Given the description of an element on the screen output the (x, y) to click on. 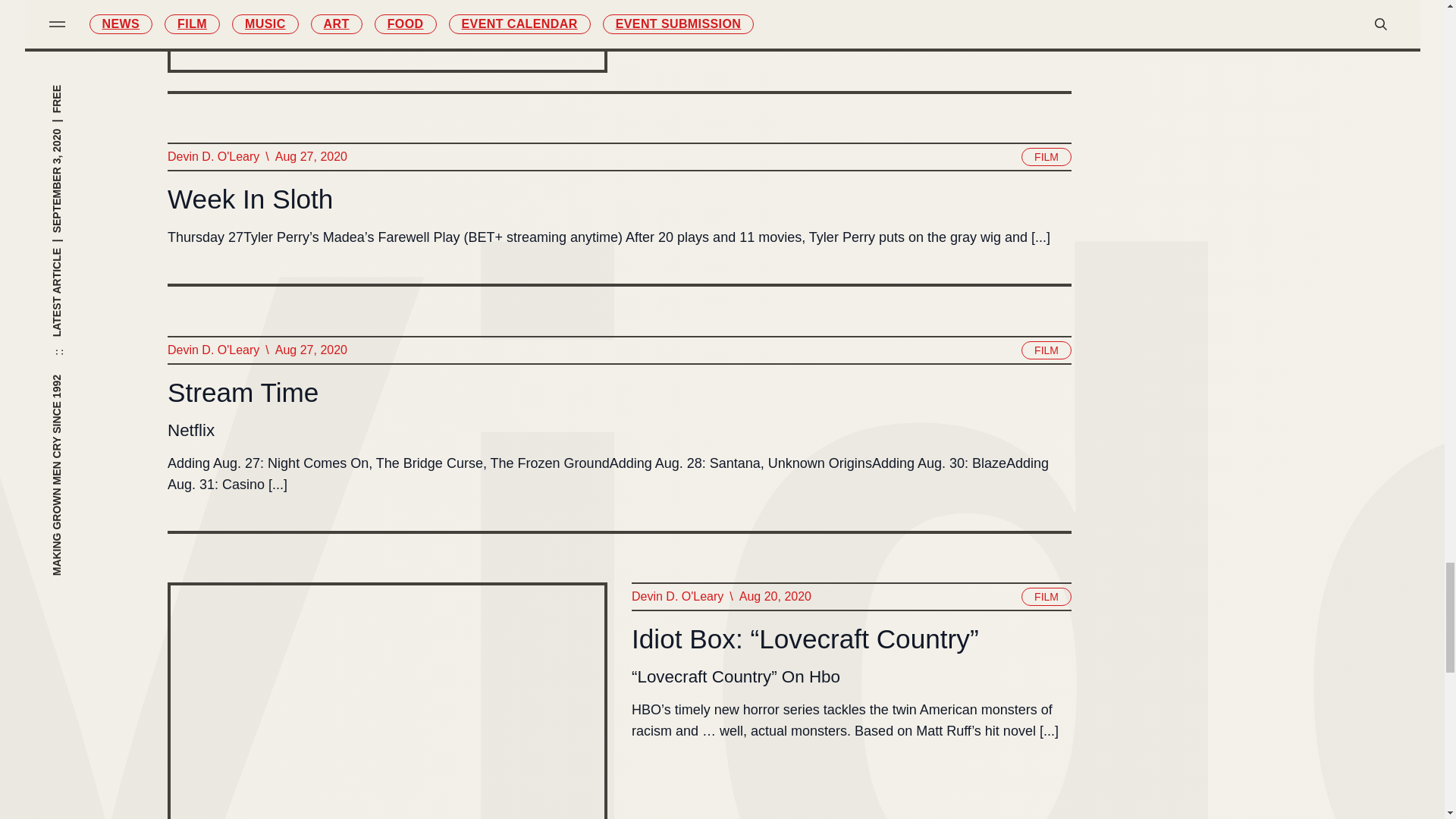
Devin D. O'Leary (213, 156)
